Given the description of an element on the screen output the (x, y) to click on. 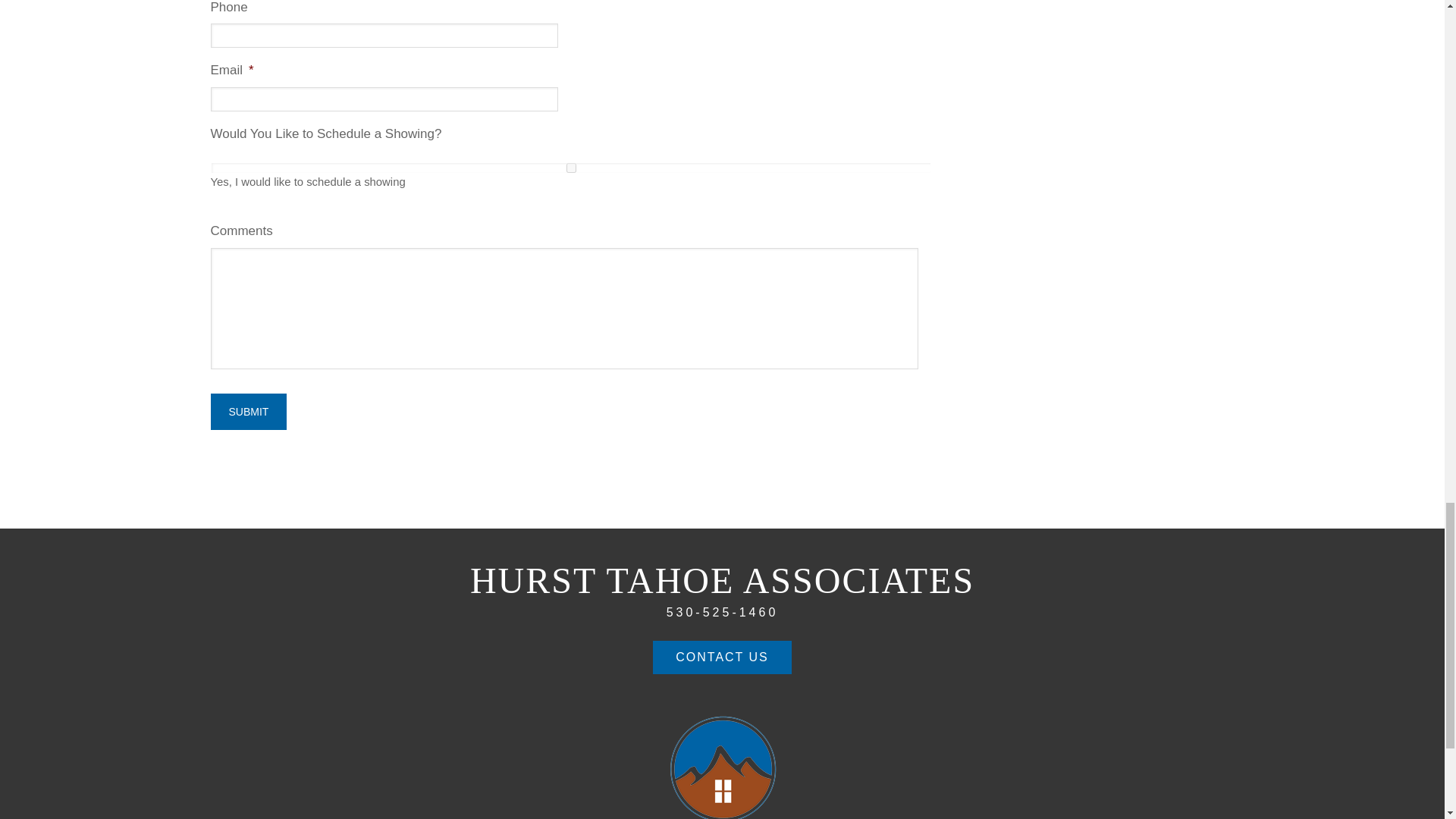
Yes, I would like to schedule a showing (571, 167)
Submit (248, 411)
Submit (248, 411)
